Given the description of an element on the screen output the (x, y) to click on. 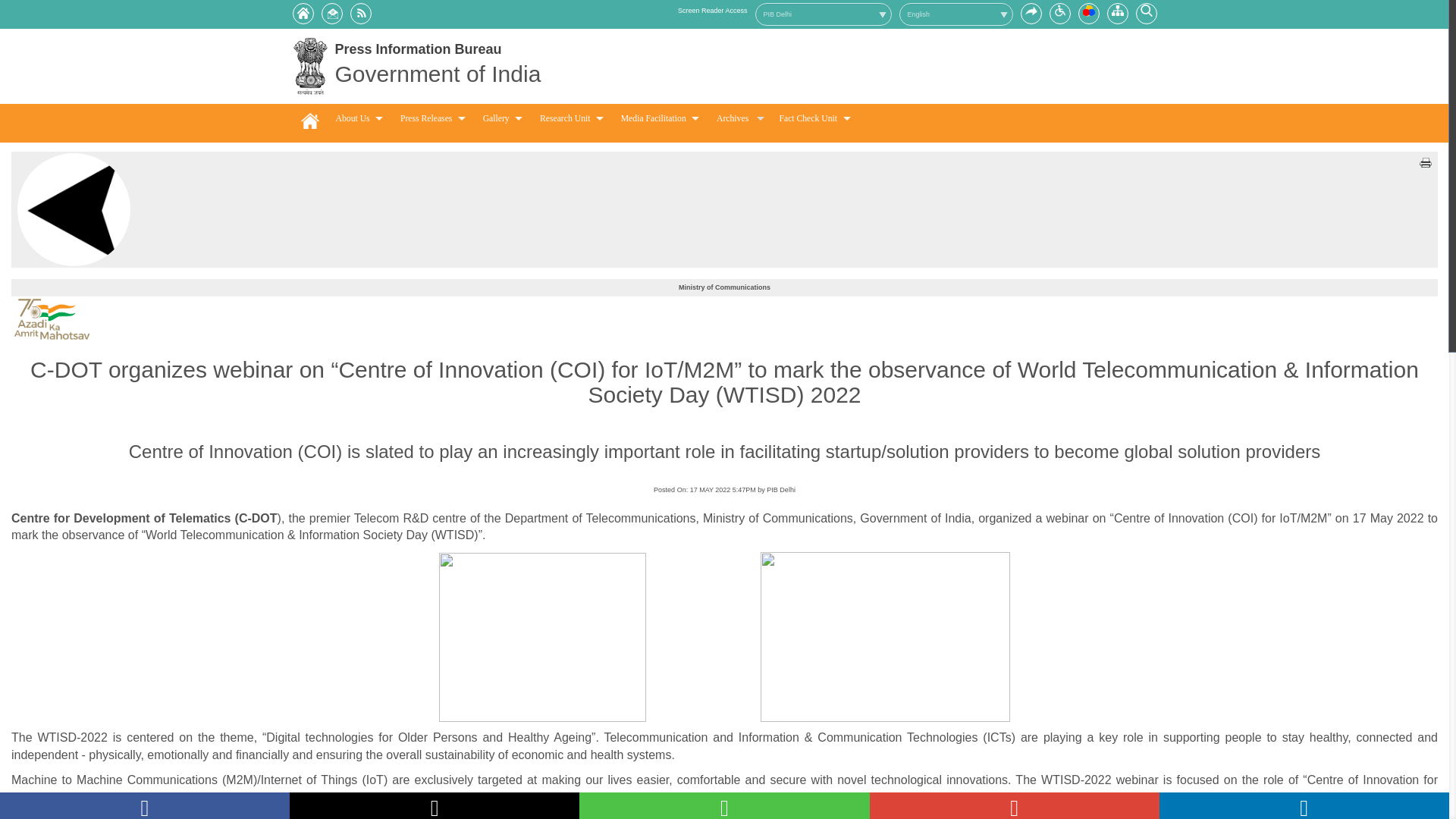
About Us (359, 119)
Research Unit (571, 119)
Press Information Bureau (418, 48)
Screen Reader Access  (713, 10)
Gallery (502, 119)
Screen Reader Access (713, 10)
Handicape (1059, 10)
Press Releases (432, 119)
Skip to Content (1030, 9)
